Given the description of an element on the screen output the (x, y) to click on. 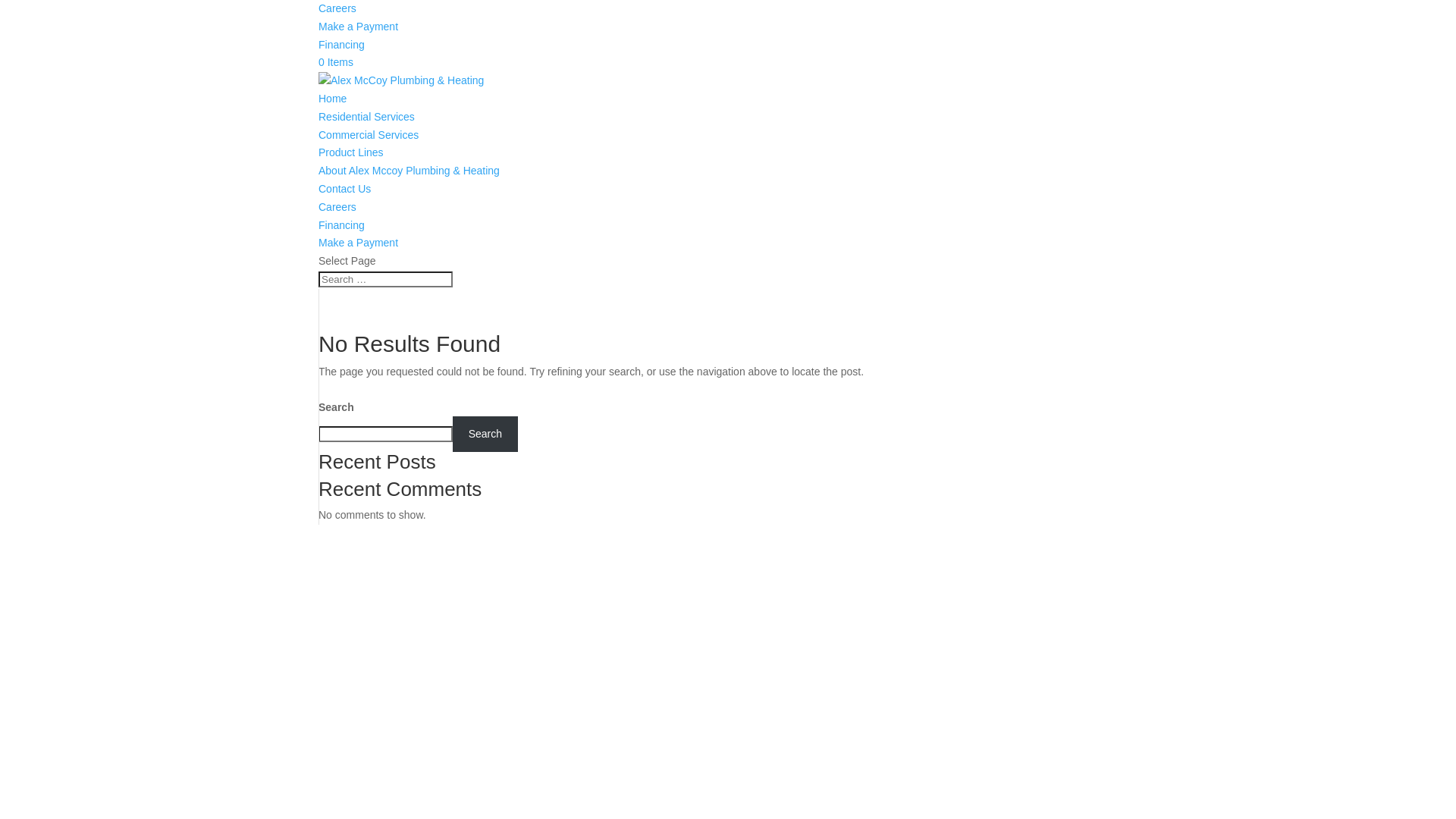
0 Items Element type: text (335, 62)
Contact Us Element type: text (344, 188)
Commercial Services Element type: text (368, 134)
Home Element type: text (332, 98)
Search Element type: text (484, 433)
About Alex Mccoy Plumbing & Heating Element type: text (408, 170)
Financing Element type: text (341, 225)
Careers Element type: text (337, 206)
Make a Payment Element type: text (358, 26)
Careers Element type: text (337, 8)
Search for: Element type: hover (385, 279)
Make a Payment Element type: text (358, 242)
Residential Services Element type: text (366, 116)
Financing Element type: text (341, 44)
Product Lines Element type: text (350, 152)
